Given the description of an element on the screen output the (x, y) to click on. 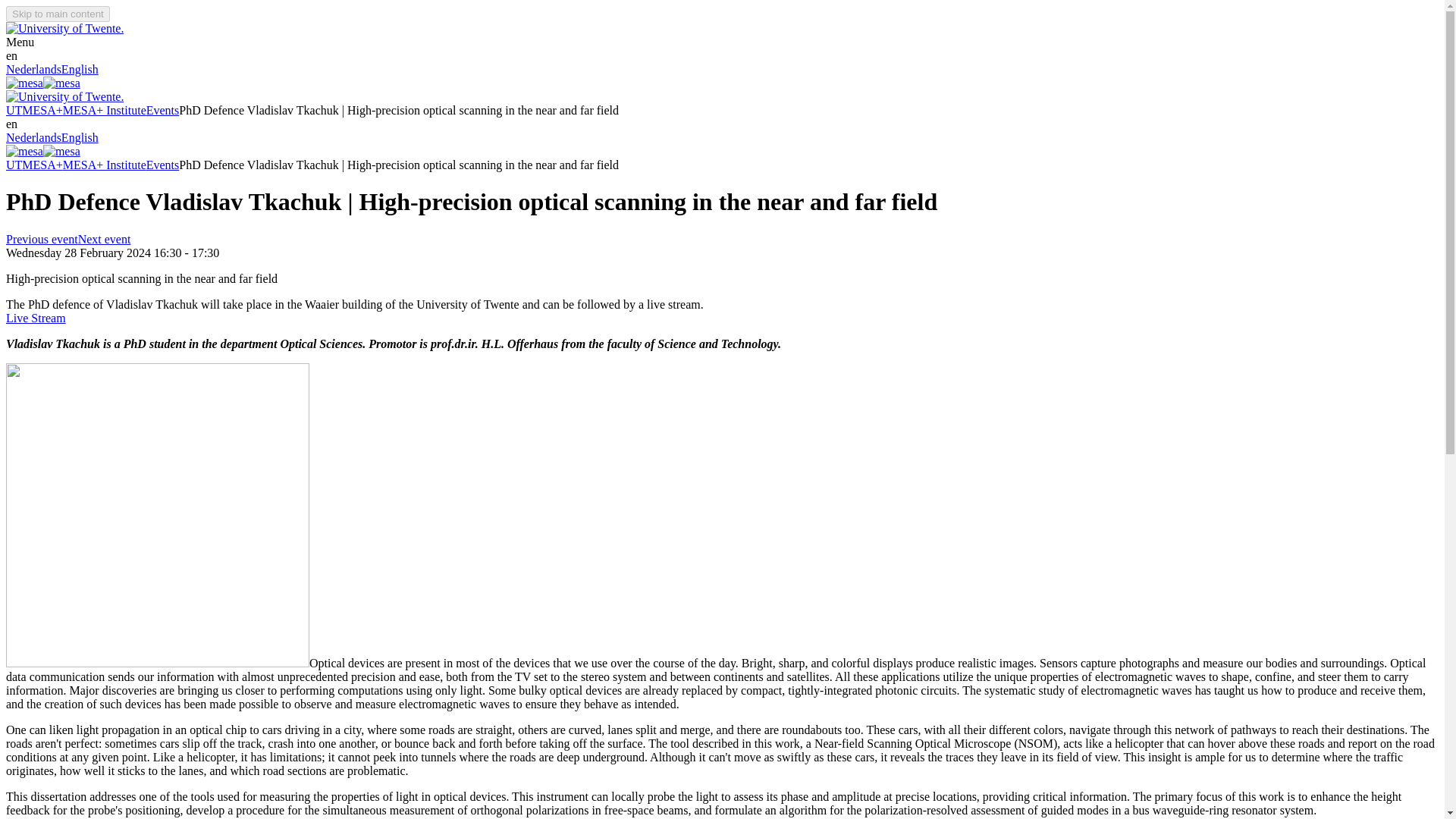
Events (163, 110)
Nederlands (33, 69)
Previous event (41, 238)
Nederlands (33, 137)
English (80, 69)
Next event (104, 238)
English (80, 137)
Skip to main content (57, 13)
UT (13, 164)
Events (163, 164)
UT (13, 110)
Live Stream (35, 318)
